Given the description of an element on the screen output the (x, y) to click on. 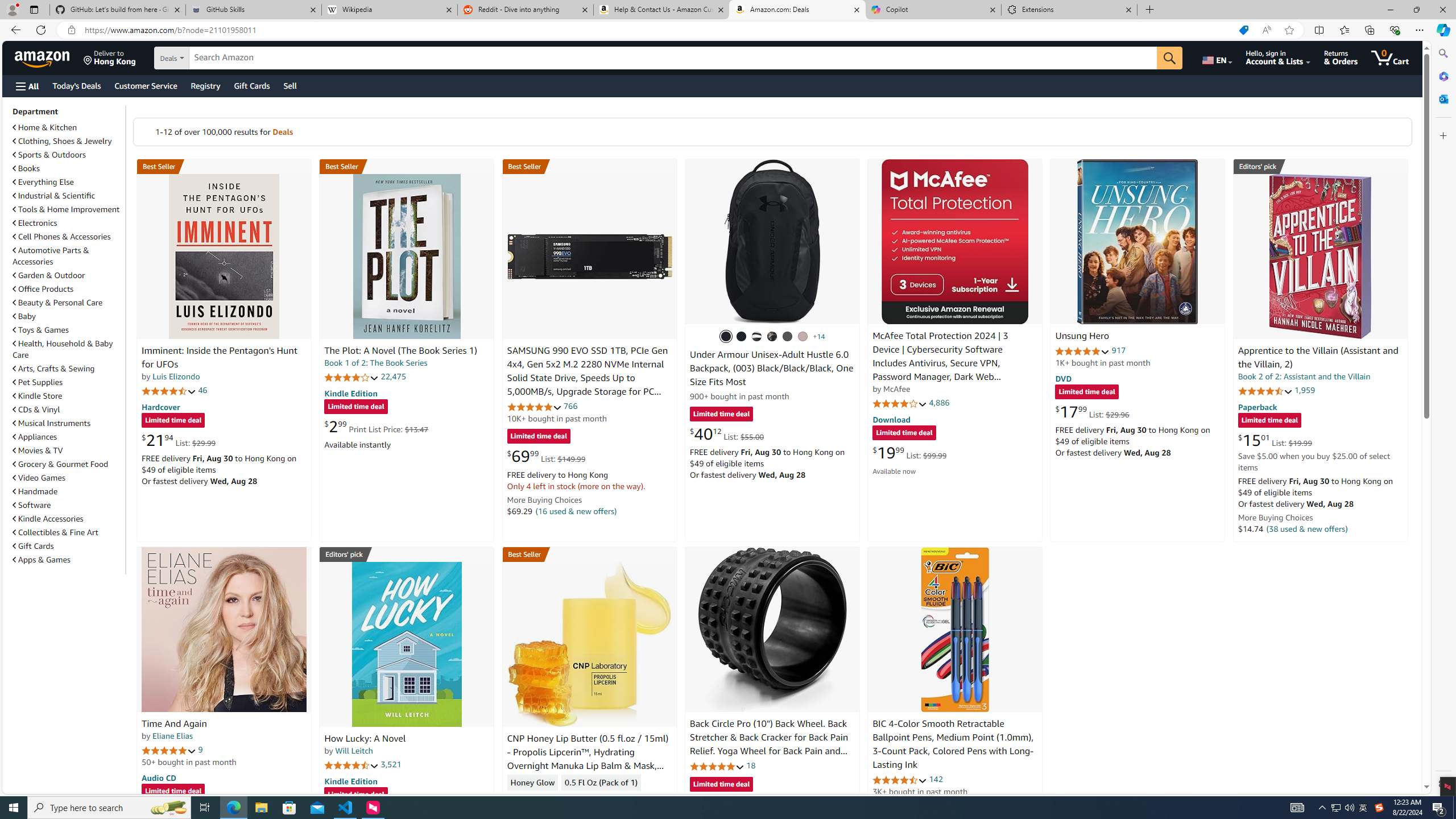
CDs & Vinyl (36, 409)
Imminent: Inside the Pentagon's Hunt for UFOs (219, 358)
(001) Black / Black / Metallic Gold (741, 336)
(003) Black / Black / Black (725, 336)
Tools & Home Improvement (67, 208)
(015) Tetra Gray / Tetra Gray / Gray Matter (802, 336)
How Lucky: A Novel (405, 644)
22,475 (393, 376)
Clothing, Shoes & Jewelry (67, 140)
